Given the description of an element on the screen output the (x, y) to click on. 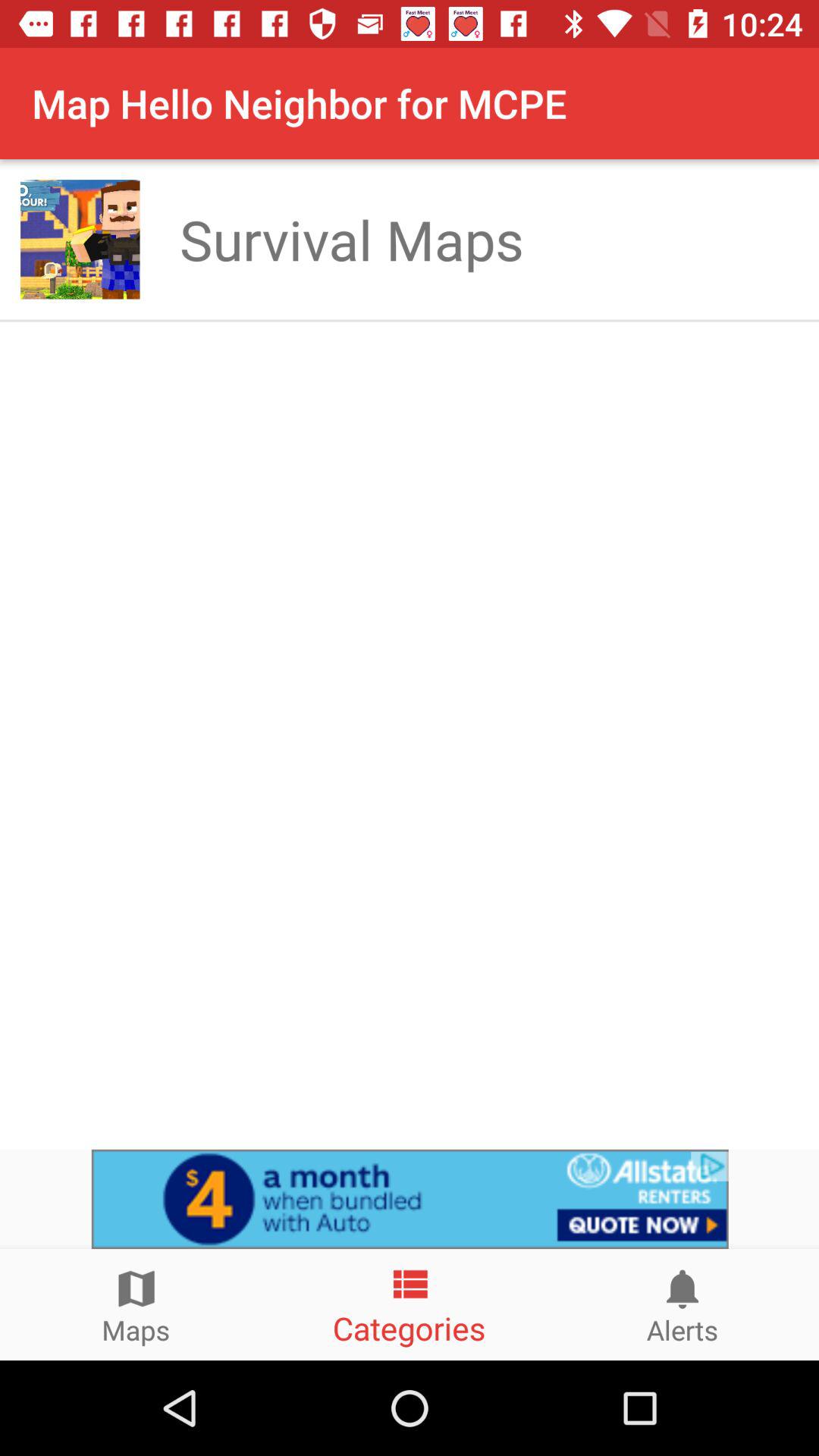
display advertisement (409, 1198)
